Given the description of an element on the screen output the (x, y) to click on. 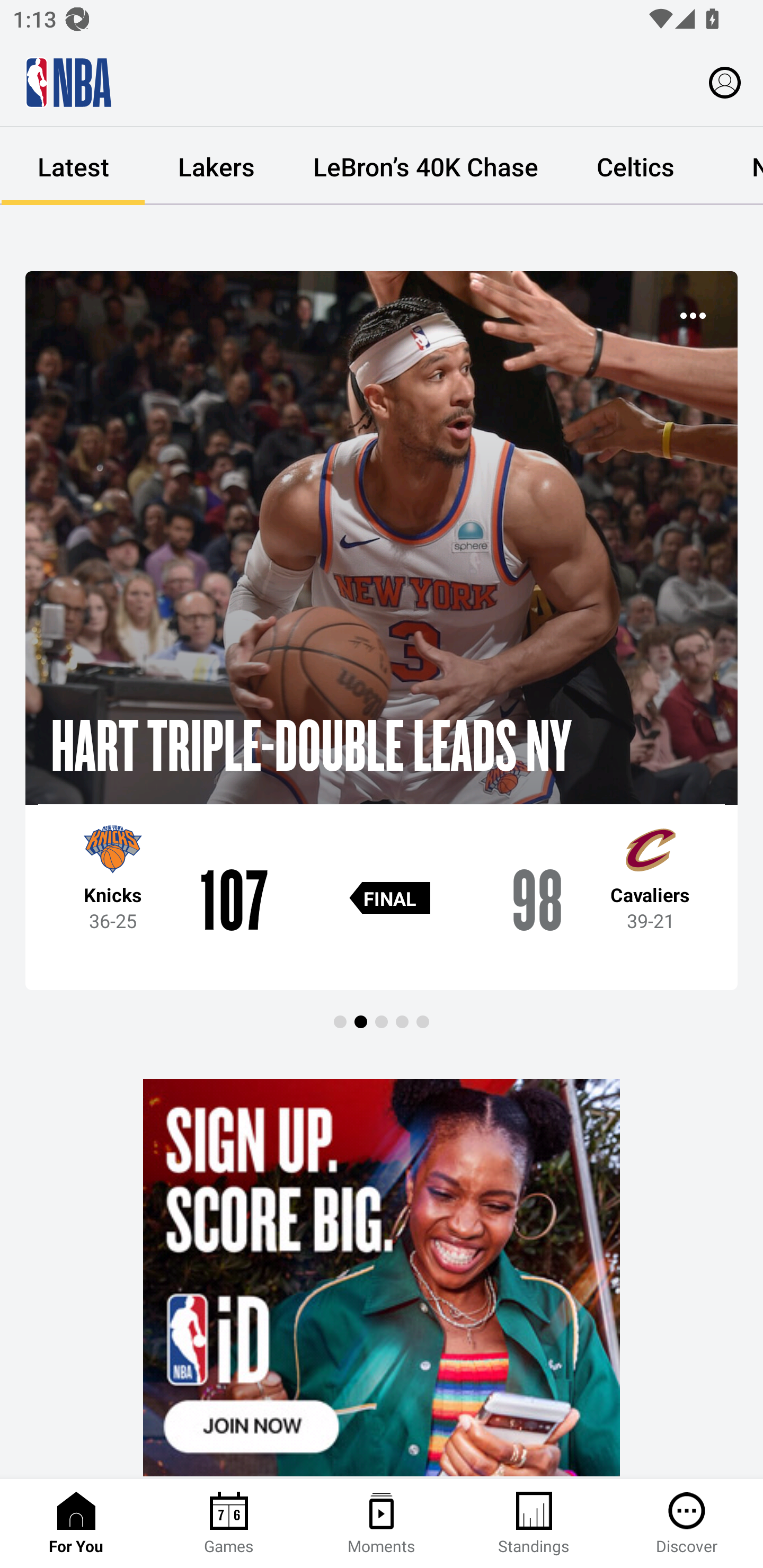
Profile (724, 81)
Lakers (215, 166)
LeBron’s 40K Chase (425, 166)
Celtics (634, 166)
Nets (734, 166)
Games (228, 1523)
Moments (381, 1523)
Standings (533, 1523)
Discover (686, 1523)
